Given the description of an element on the screen output the (x, y) to click on. 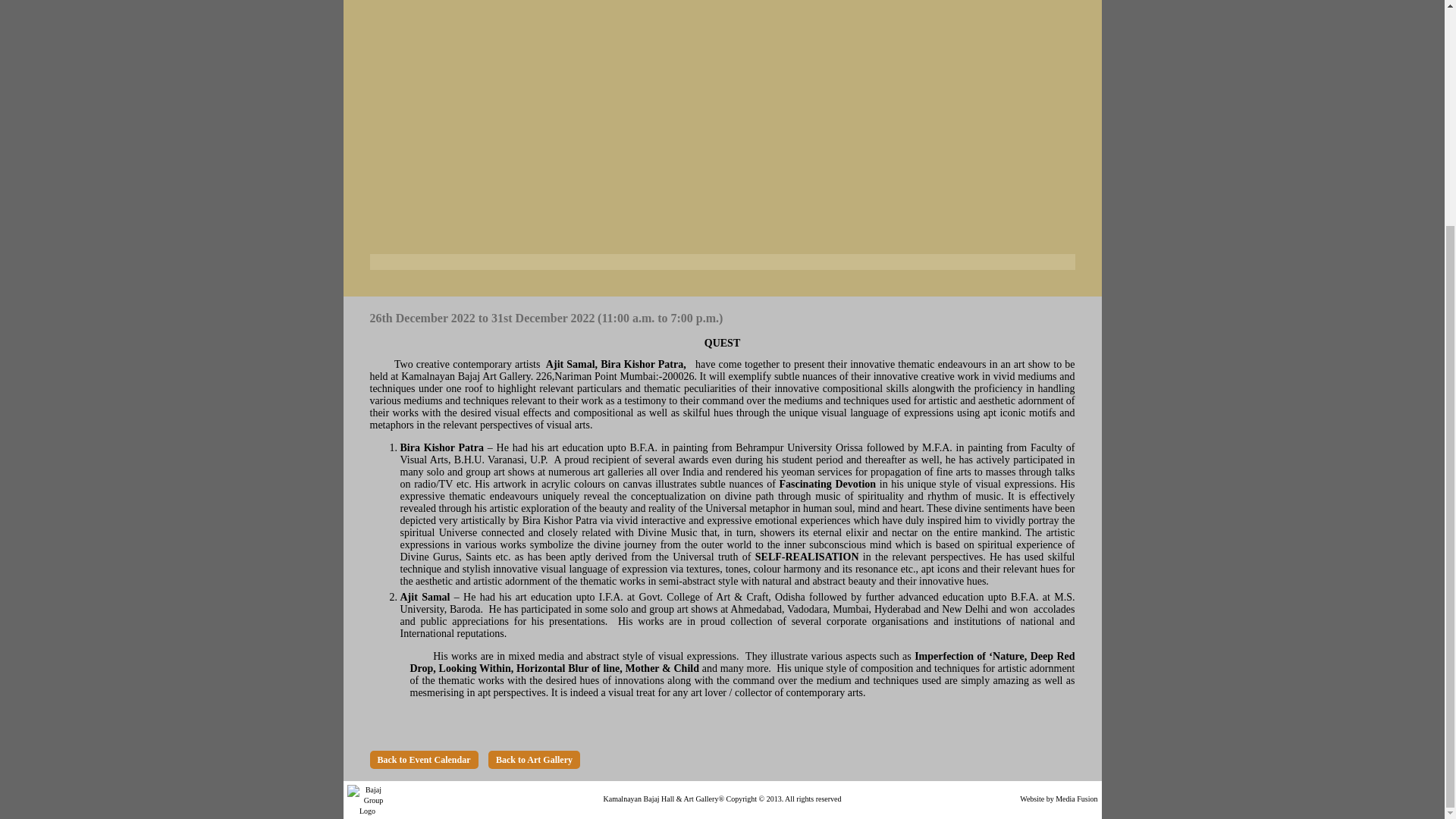
Back to Event Calendar (424, 760)
Website by Media Fusion (1058, 798)
Back to Art Gallery (533, 760)
